Given the description of an element on the screen output the (x, y) to click on. 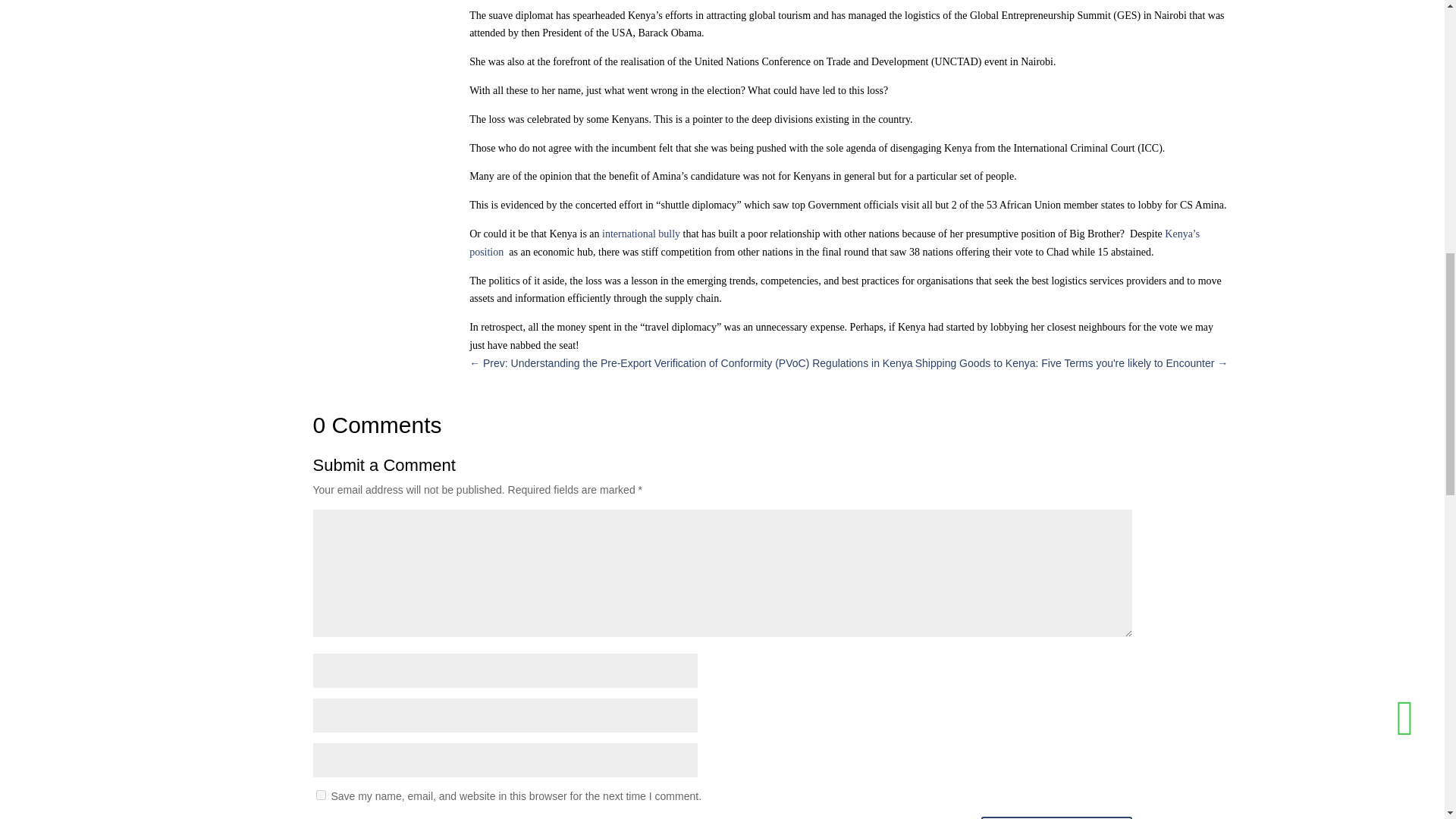
yes (319, 795)
international bully (642, 233)
